Given the description of an element on the screen output the (x, y) to click on. 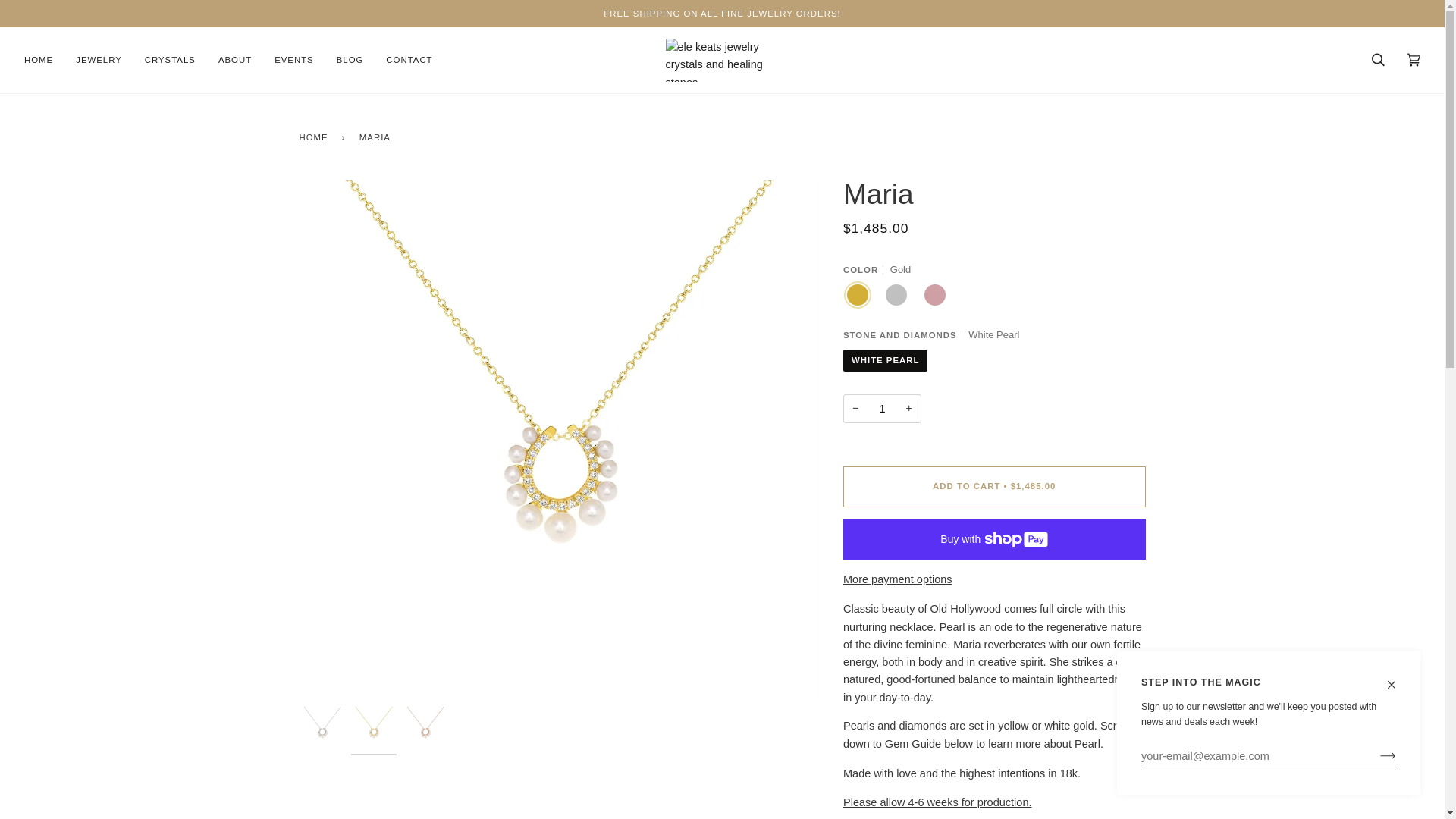
JEWELRY (98, 60)
CRYSTALS (169, 60)
1 (882, 408)
Back to the frontpage (315, 136)
Page 4 (994, 676)
